Given the description of an element on the screen output the (x, y) to click on. 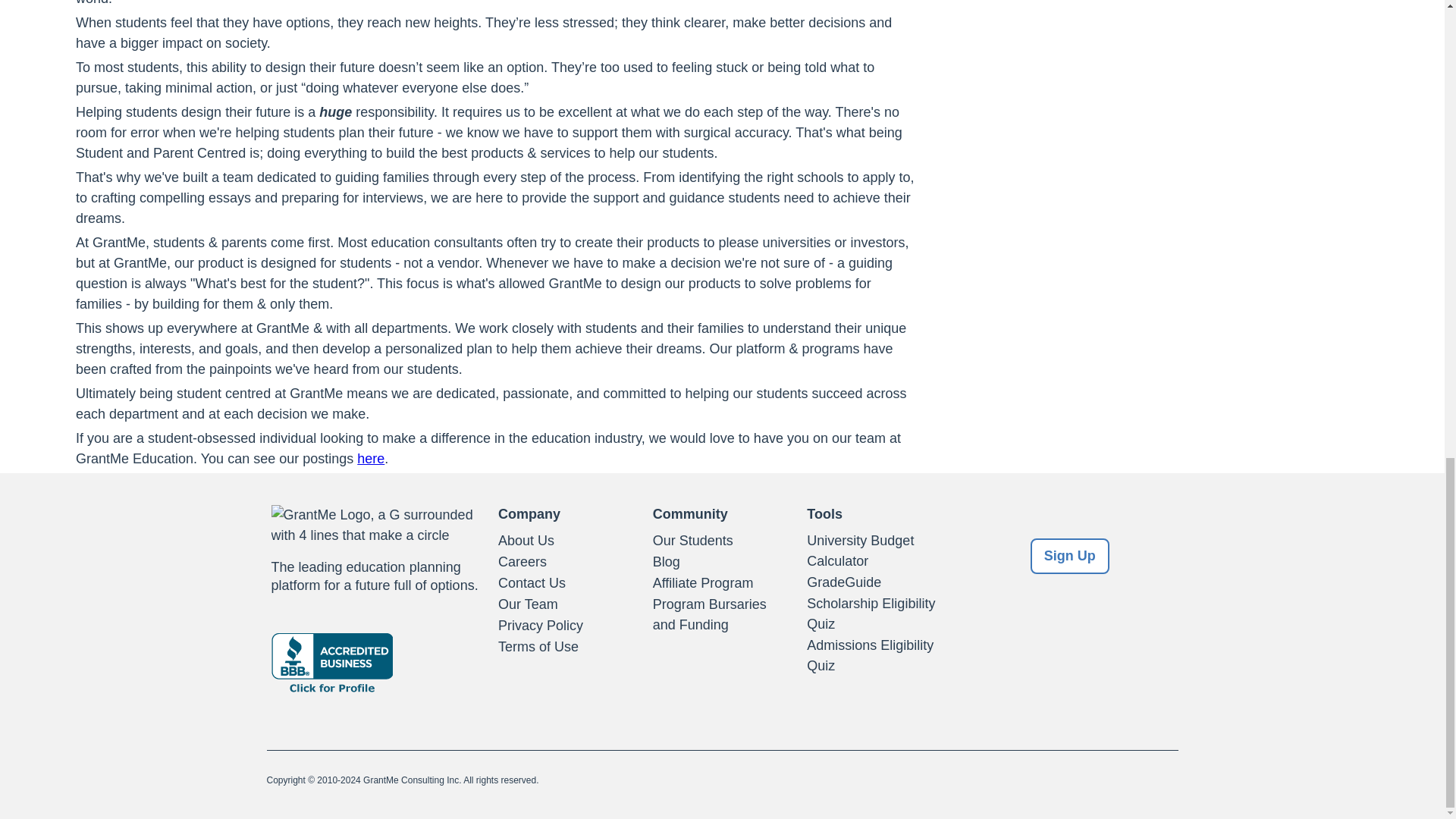
Sign Up (1069, 556)
Scholarship Eligibility Quiz (876, 614)
Our Team (567, 604)
Privacy Policy (567, 626)
Terms of Use (567, 647)
GradeGuide (876, 582)
Contact Us (567, 583)
here (370, 458)
Blog (722, 562)
University Budget Calculator (876, 551)
